Given the description of an element on the screen output the (x, y) to click on. 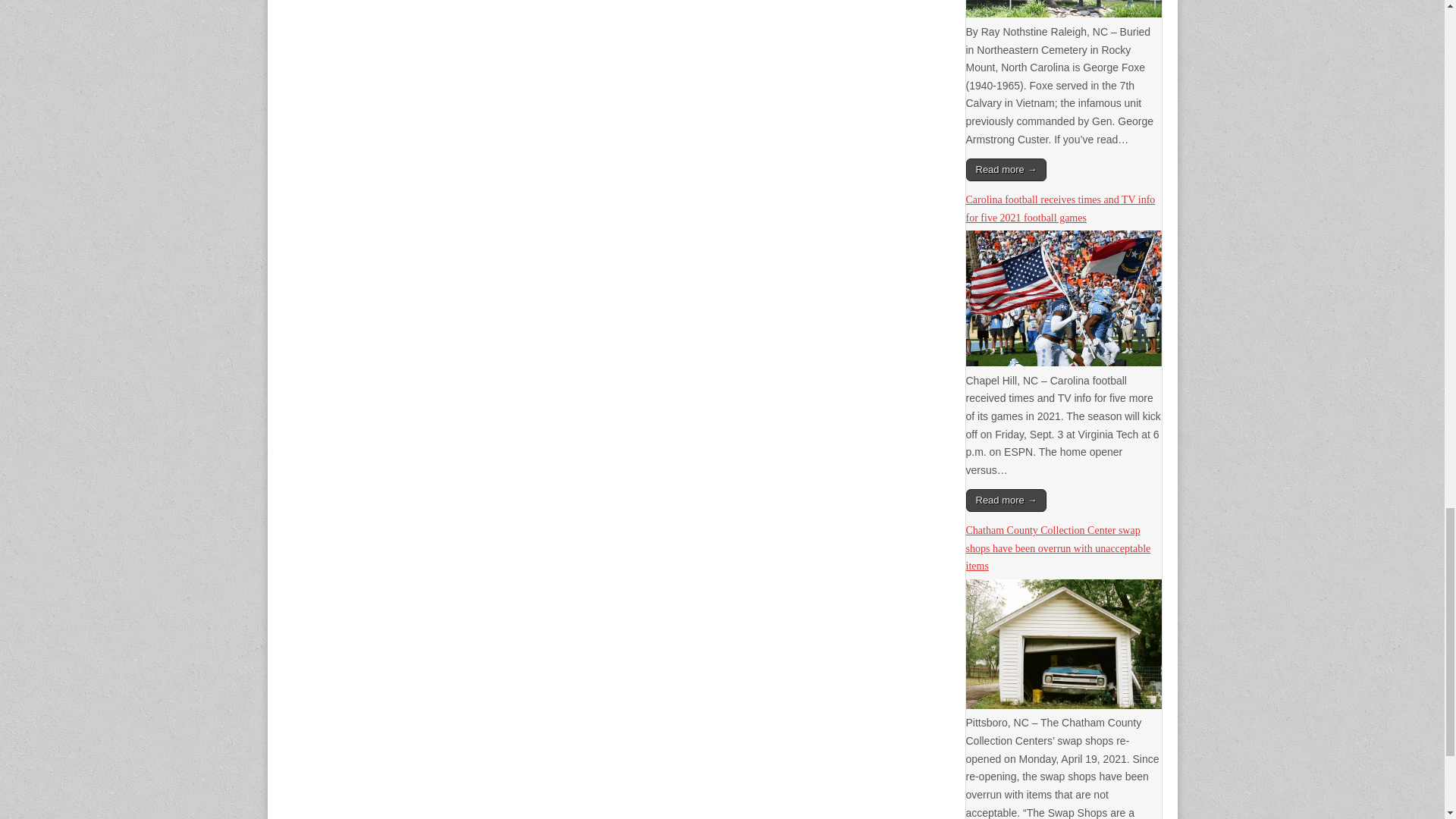
They are buried in North Carolina (1063, 13)
